Given the description of an element on the screen output the (x, y) to click on. 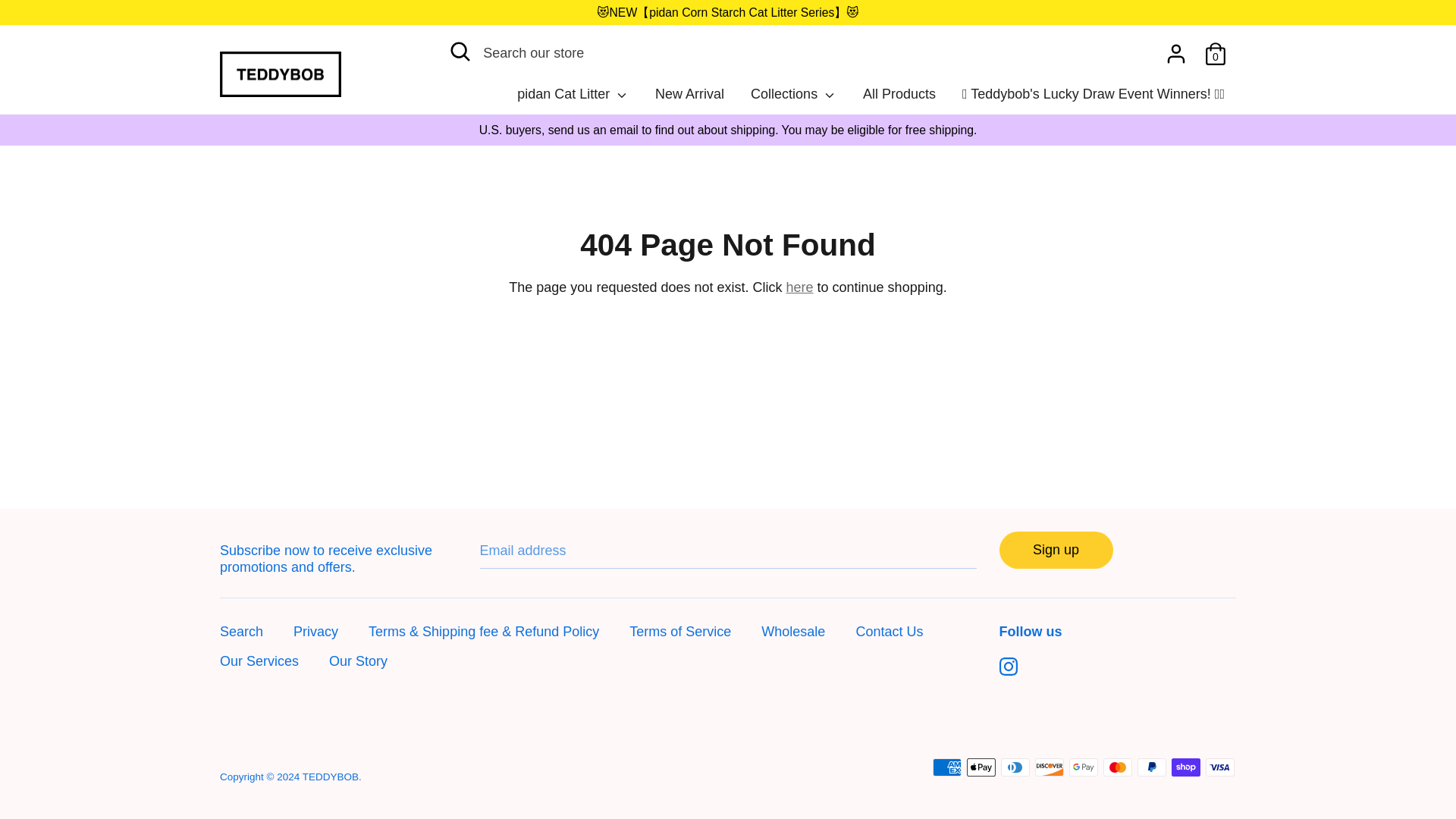
Visa (1219, 767)
Apple Pay (980, 767)
Shop Pay (1185, 767)
Google Pay (1082, 767)
PayPal (1151, 767)
Diners Club (1015, 767)
American Express (946, 767)
Mastercard (1117, 767)
0 (1214, 48)
Discover (1049, 767)
